Given the description of an element on the screen output the (x, y) to click on. 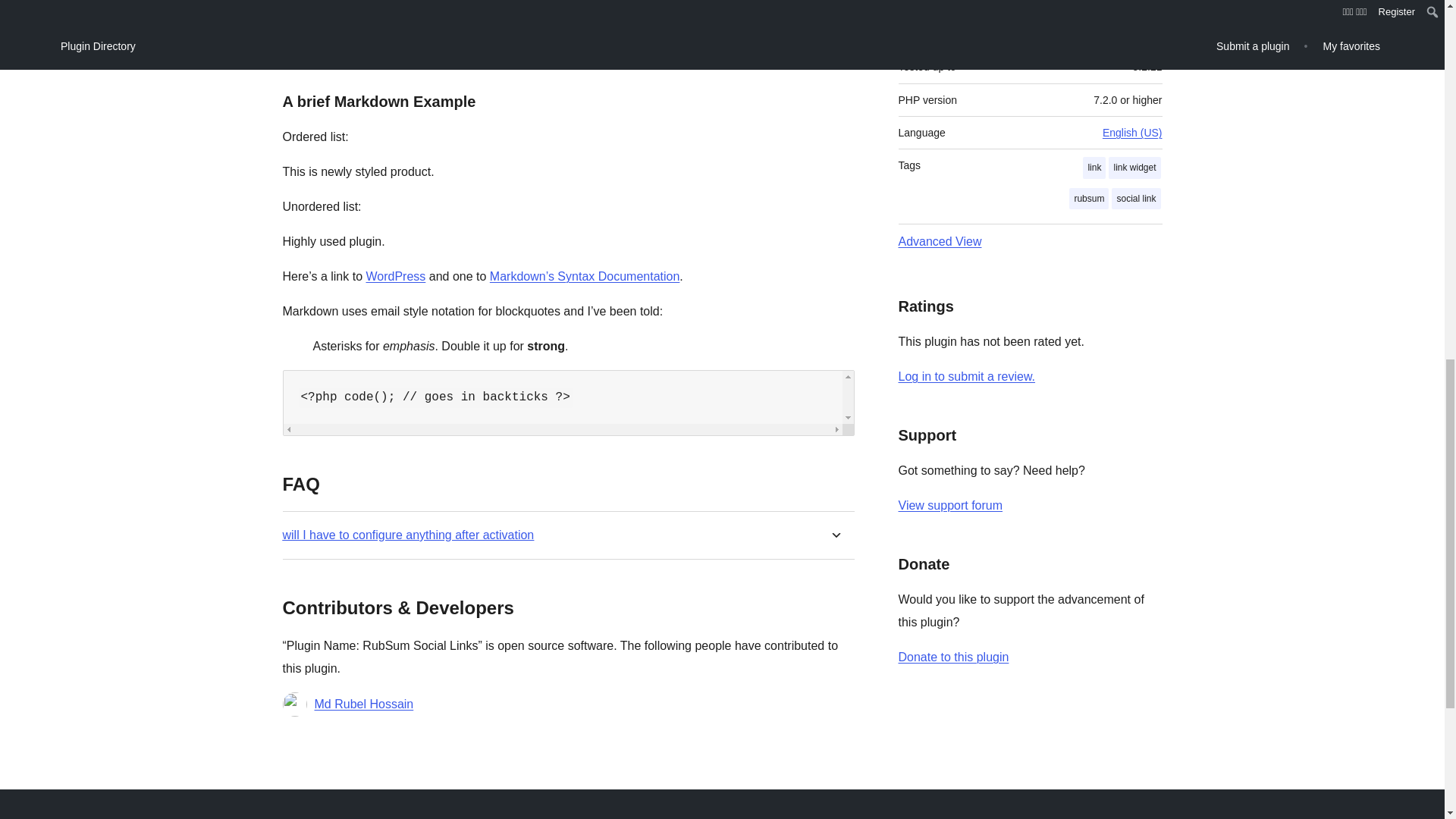
Log in to WordPress.org (966, 376)
will I have to configure anything after activation (408, 534)
Your favorite software (395, 276)
WordPress (395, 276)
Md Rubel Hossain (363, 703)
